Given the description of an element on the screen output the (x, y) to click on. 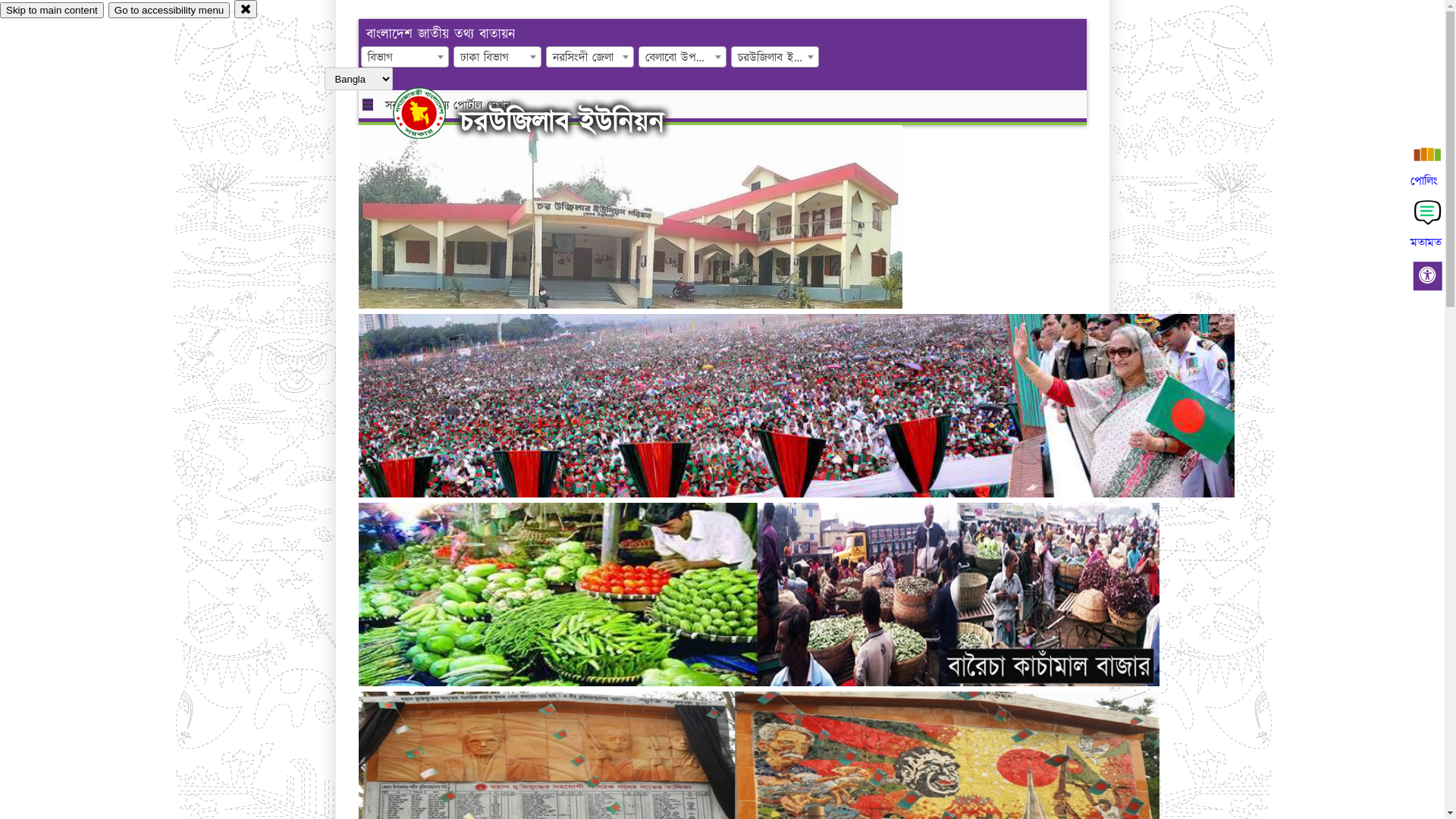

                
             Element type: hover (431, 112)
Go to accessibility menu Element type: text (168, 10)
close Element type: hover (245, 9)
Skip to main content Element type: text (51, 10)
